Given the description of an element on the screen output the (x, y) to click on. 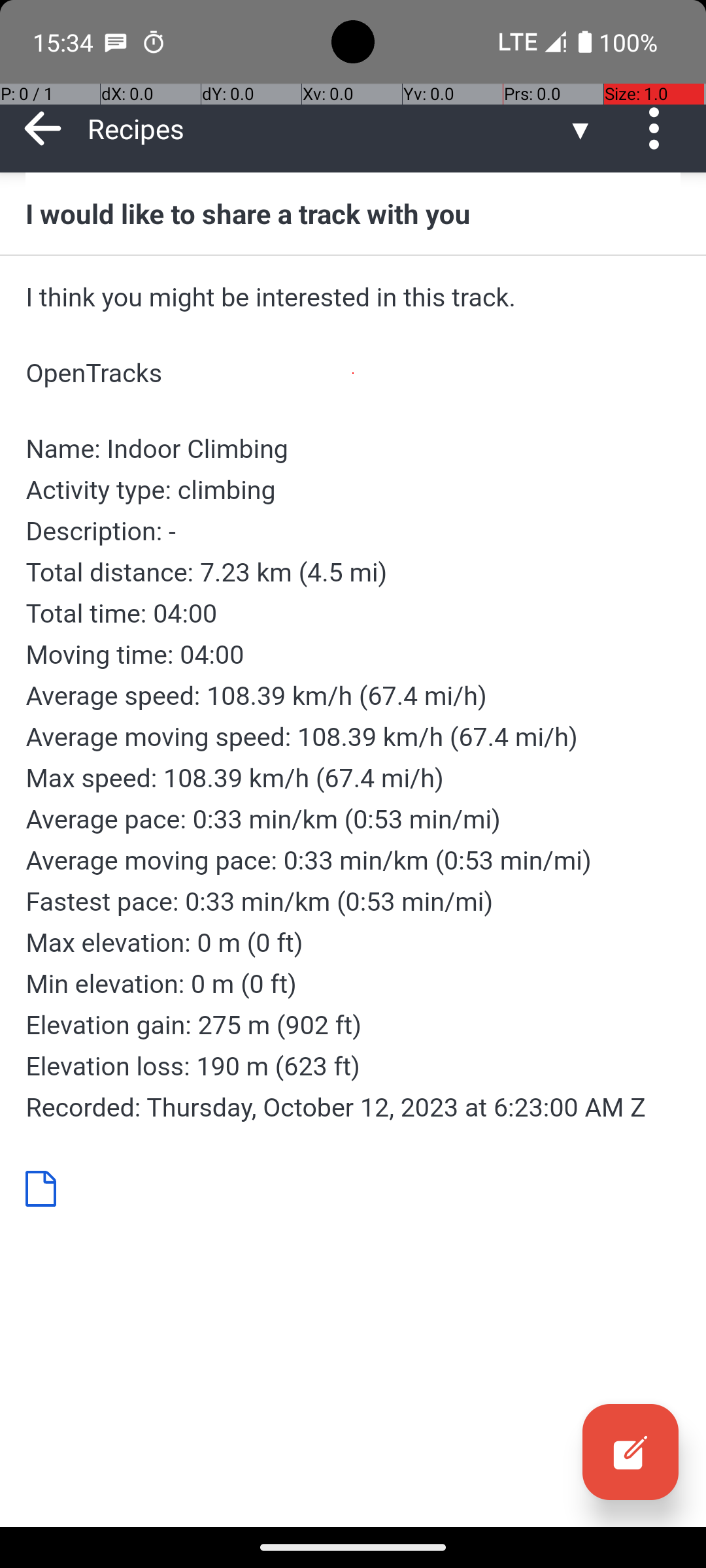
I would like to share a track with you Element type: android.widget.EditText (352, 213)
I think you might be interested in this track. Element type: android.widget.TextView (352, 296)
Name: Indoor Climbing
Activity type: climbing
Description: -
Total distance: 7.23 km (4.5 mi)
Total time: 04:00
Moving time: 04:00
Average speed: 108.39 km/h (67.4 mi/h)
Average moving speed: 108.39 km/h (67.4 mi/h)
Max speed: 108.39 km/h (67.4 mi/h)
Average pace: 0:33 min/km (0:53 min/mi)
Average moving pace: 0:33 min/km (0:53 min/mi)
Fastest pace: 0:33 min/km (0:53 min/mi)
Max elevation: 0 m (0 ft)
Min elevation: 0 m (0 ft)
Elevation gain: 275 m (902 ft)
Elevation loss: 190 m (623 ft)
Recorded: Thursday, October 12, 2023 at 6:23:00 AM Z Element type: android.widget.TextView (352, 777)
NoteBodyViewer Element type: android.view.View (45, 1187)
